Given the description of an element on the screen output the (x, y) to click on. 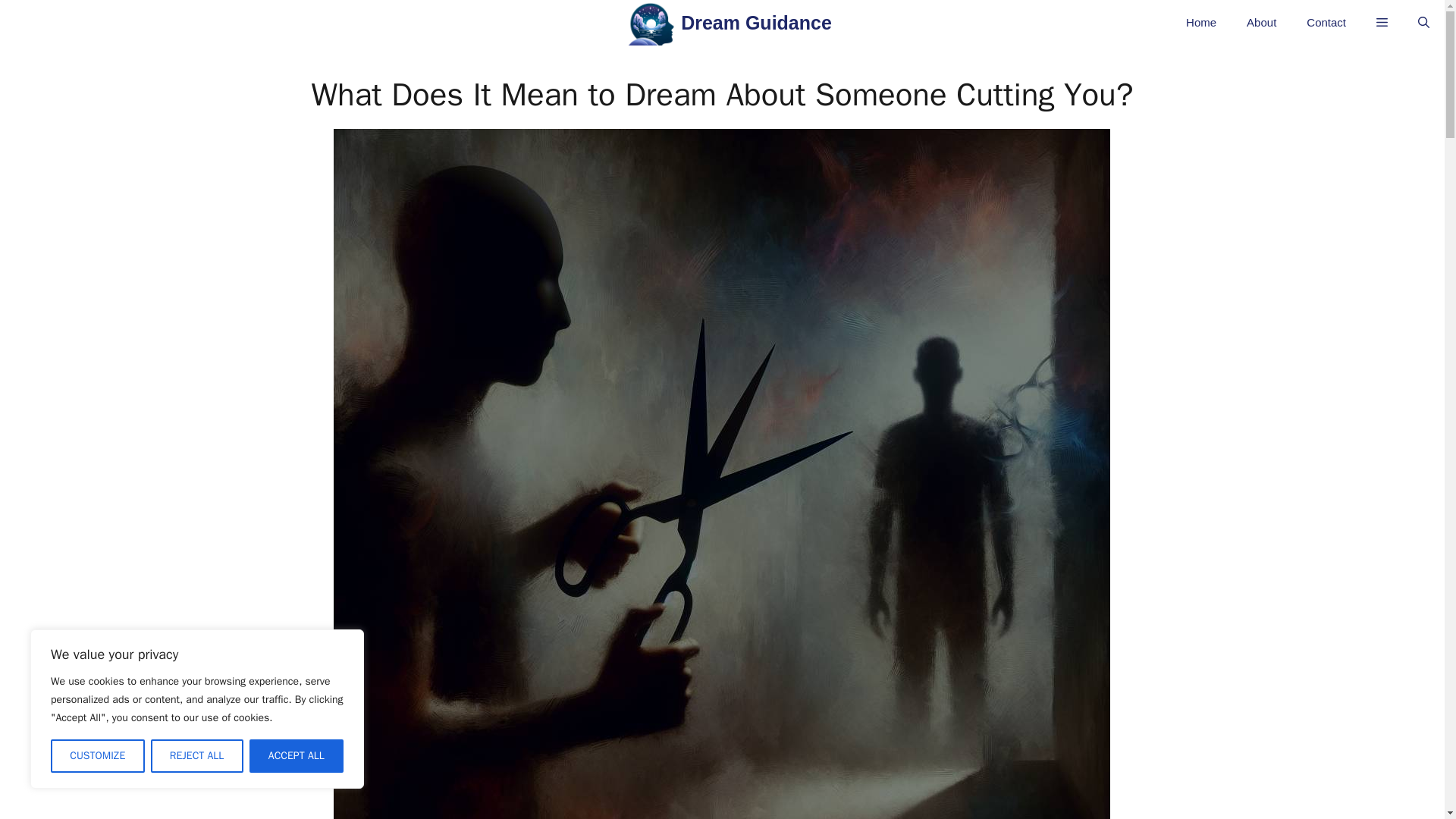
ACCEPT ALL (295, 756)
Contact (1326, 22)
CUSTOMIZE (97, 756)
Home (1200, 22)
REJECT ALL (196, 756)
About (1261, 22)
Dream Guidance (756, 26)
